Given the description of an element on the screen output the (x, y) to click on. 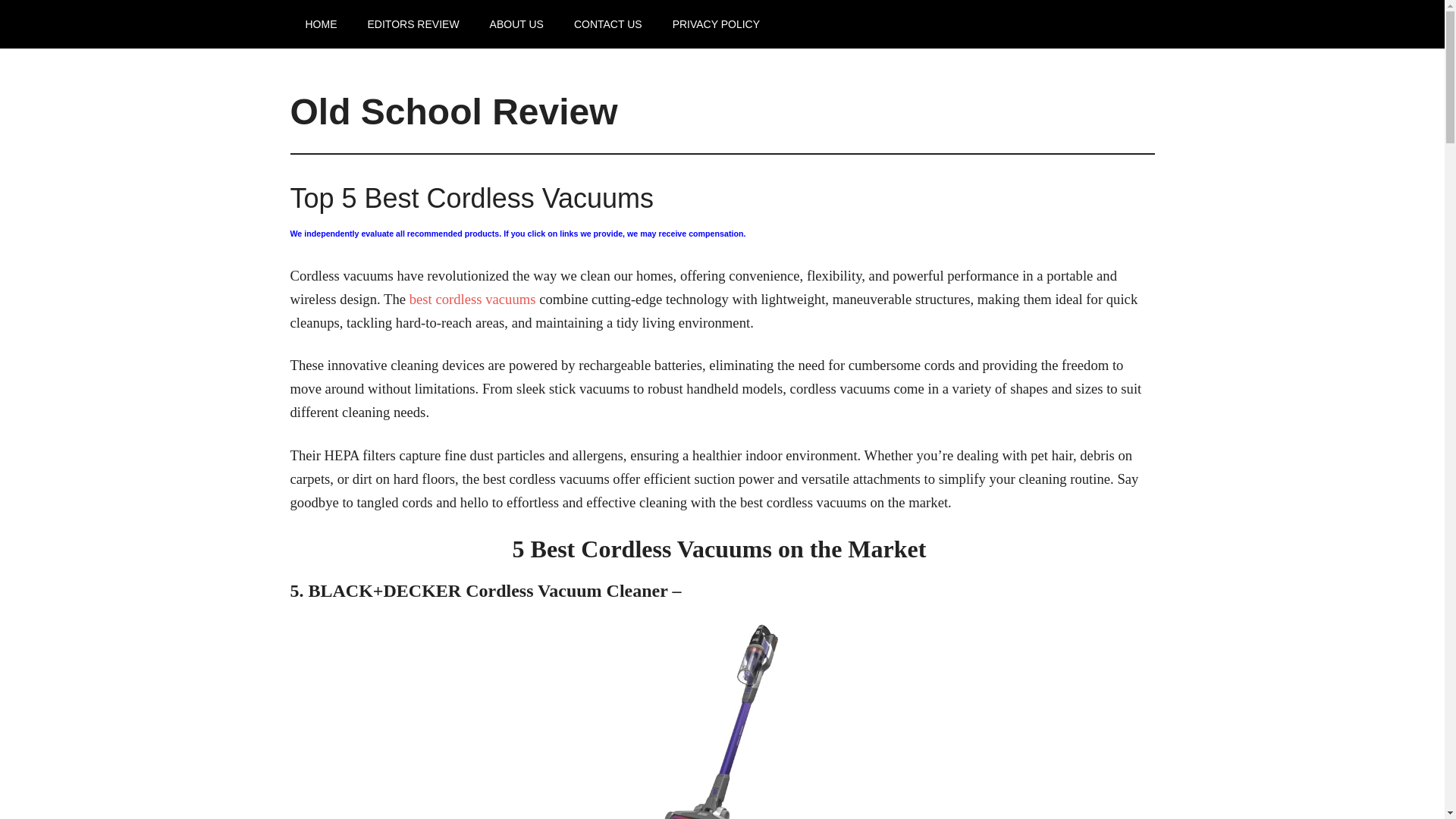
best cordless vacuums (472, 299)
ABOUT US (516, 24)
CONTACT US (608, 24)
EDITORS REVIEW (413, 24)
HOME (320, 24)
Old School Review (453, 111)
PRIVACY POLICY (716, 24)
